Given the description of an element on the screen output the (x, y) to click on. 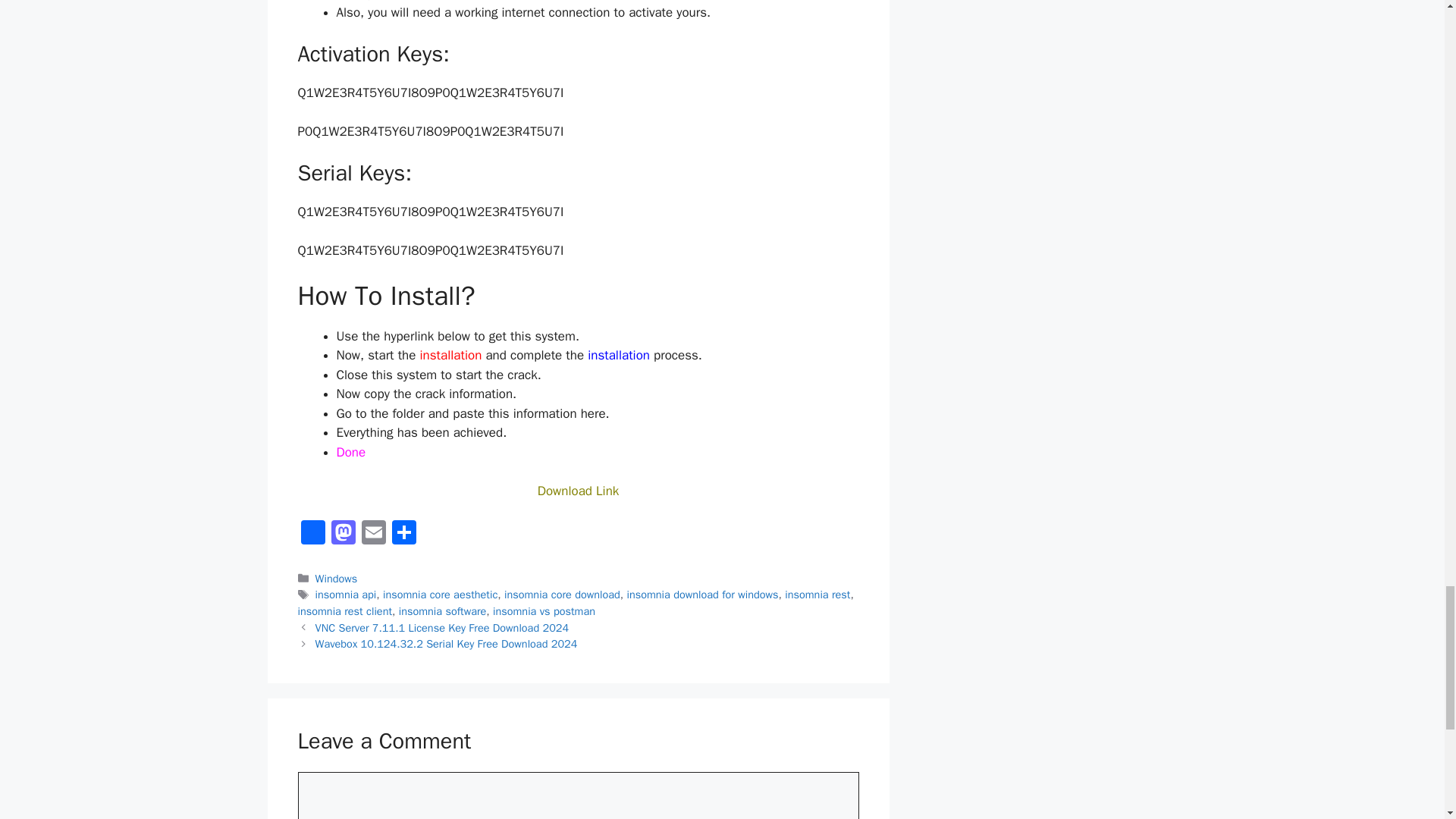
insomnia download for windows (701, 594)
insomnia core download (561, 594)
installation (618, 355)
insomnia core aesthetic (439, 594)
insomnia rest (817, 594)
insomnia api (346, 594)
Download Link (578, 490)
insomnia rest client (344, 611)
Email (373, 534)
Windows (336, 578)
installation (450, 355)
Mastodon (342, 534)
Facebook (312, 534)
